Given the description of an element on the screen output the (x, y) to click on. 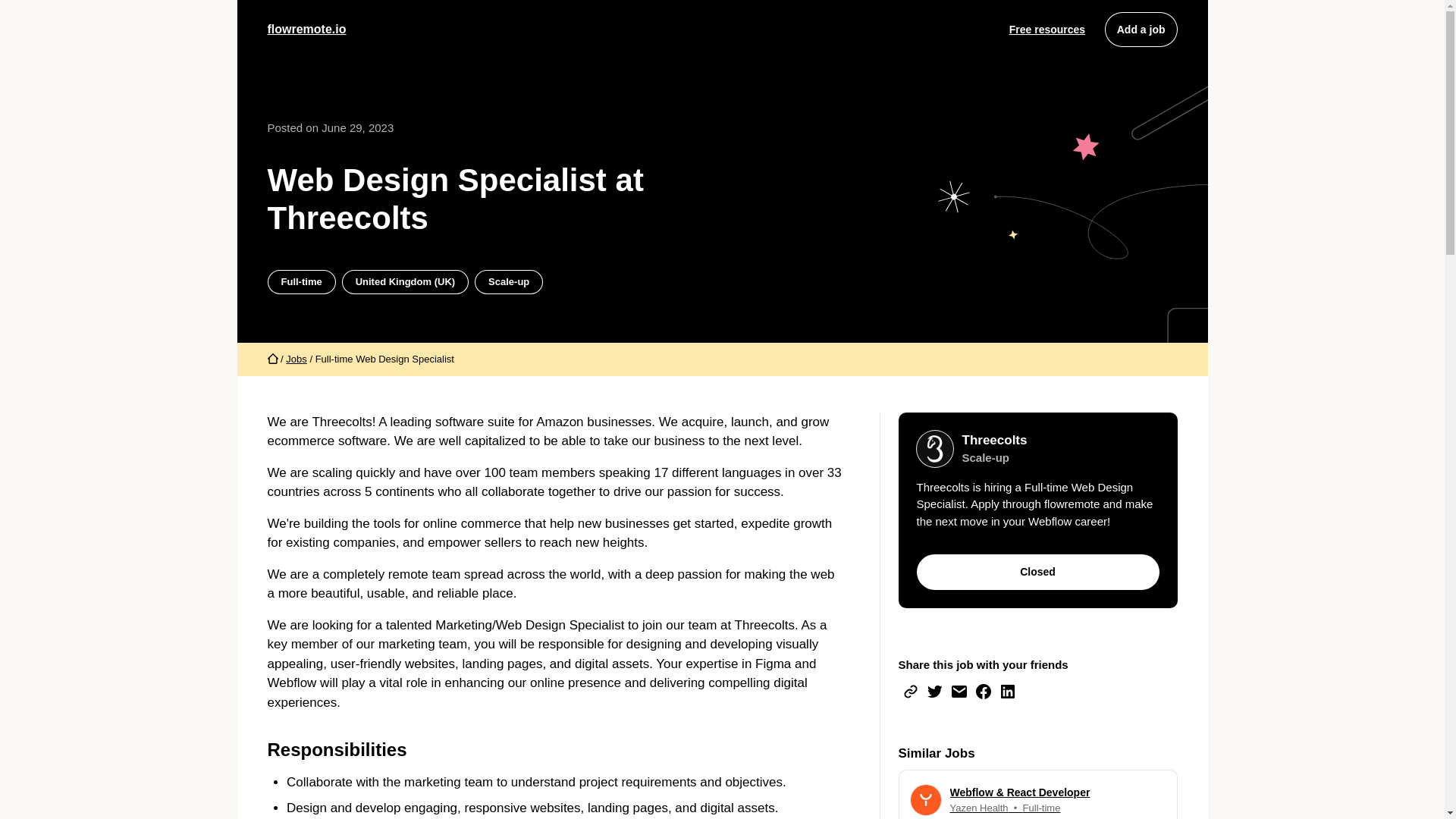
flowremote.io (306, 29)
Add a job (1141, 29)
Free resources (933, 691)
Home (958, 691)
Jobs (1006, 691)
